Given the description of an element on the screen output the (x, y) to click on. 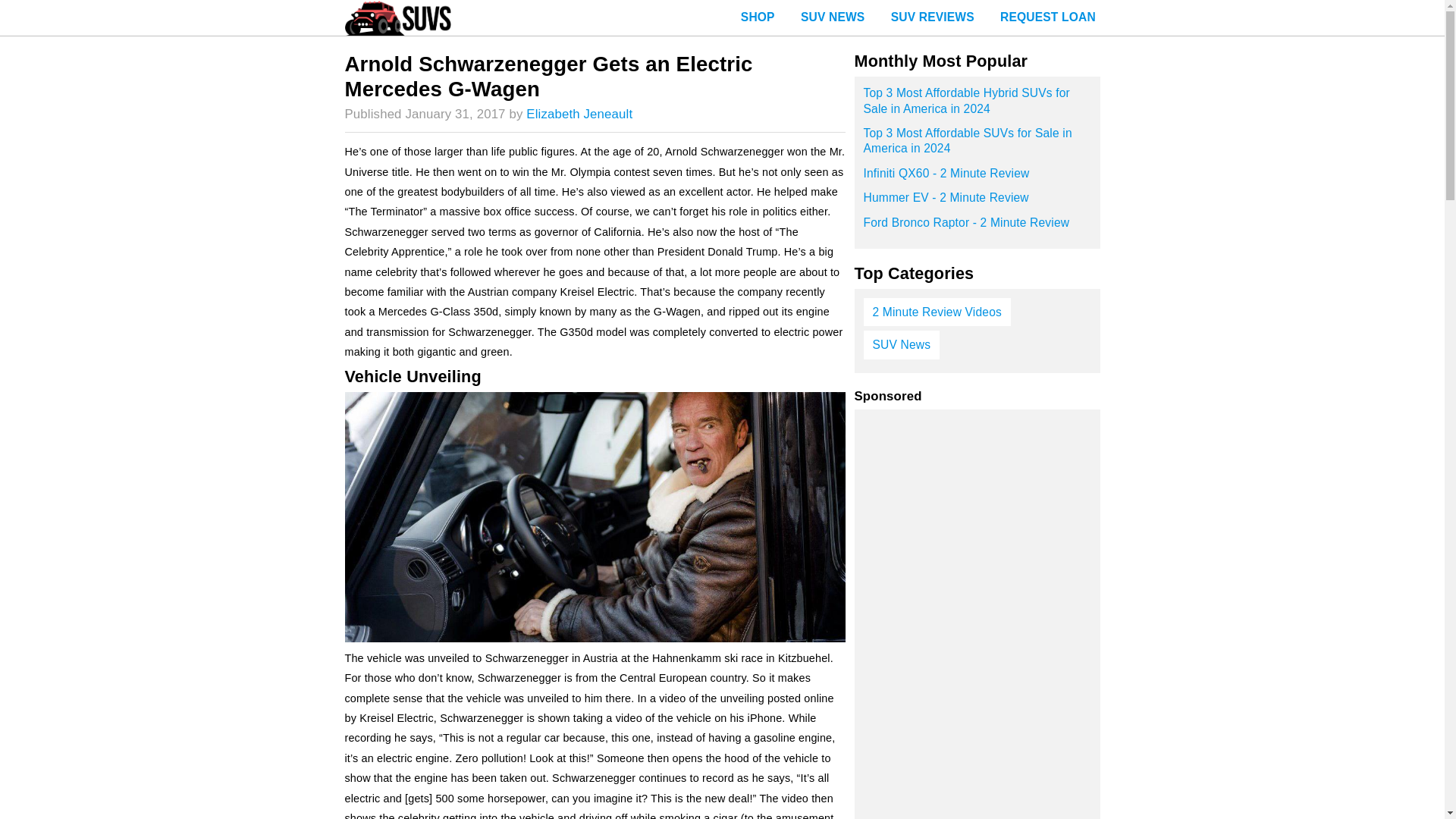
Elizabeth Jeneault (578, 114)
REQUEST LOAN (1047, 18)
Hummer EV - 2 Minute Review (976, 202)
SUV NEWS (832, 18)
Infiniti QX60 - 2 Minute Review (976, 178)
SUV REVIEWS (932, 18)
2 Minute Review Videos (936, 311)
Ford Bronco Raptor - 2 Minute Review (976, 227)
SHOP (757, 18)
